Given the description of an element on the screen output the (x, y) to click on. 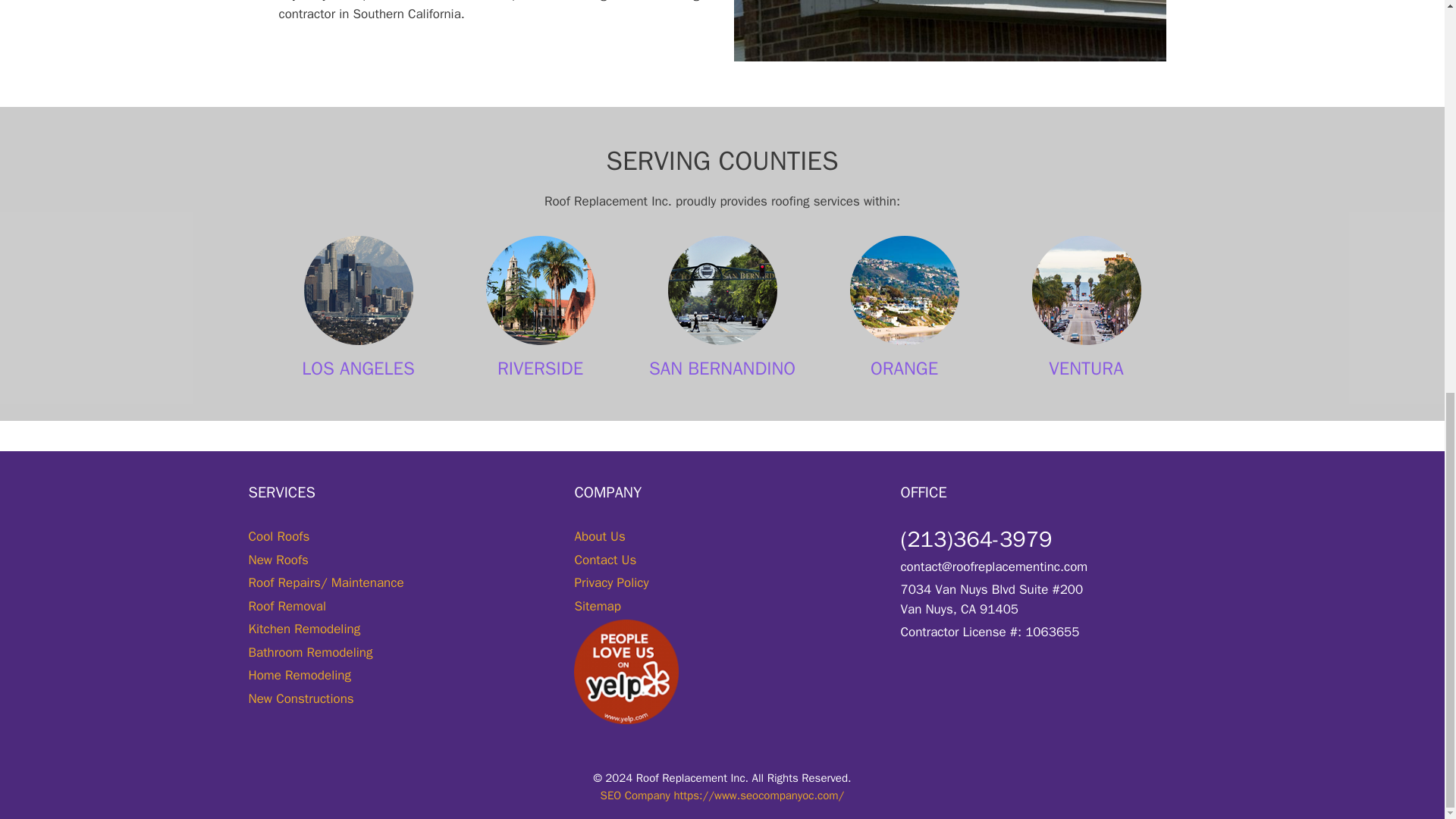
New Roofs (278, 560)
Roof Removal (287, 606)
Kitchen Remodeling (304, 628)
Yelp (625, 671)
Home Remodeling (299, 675)
Worker Replacing Roofing Tiles (949, 30)
Los Angeles County  (357, 290)
Riverside County  (539, 290)
Bathroom Remodeling (310, 652)
New Constructions (300, 698)
